Given the description of an element on the screen output the (x, y) to click on. 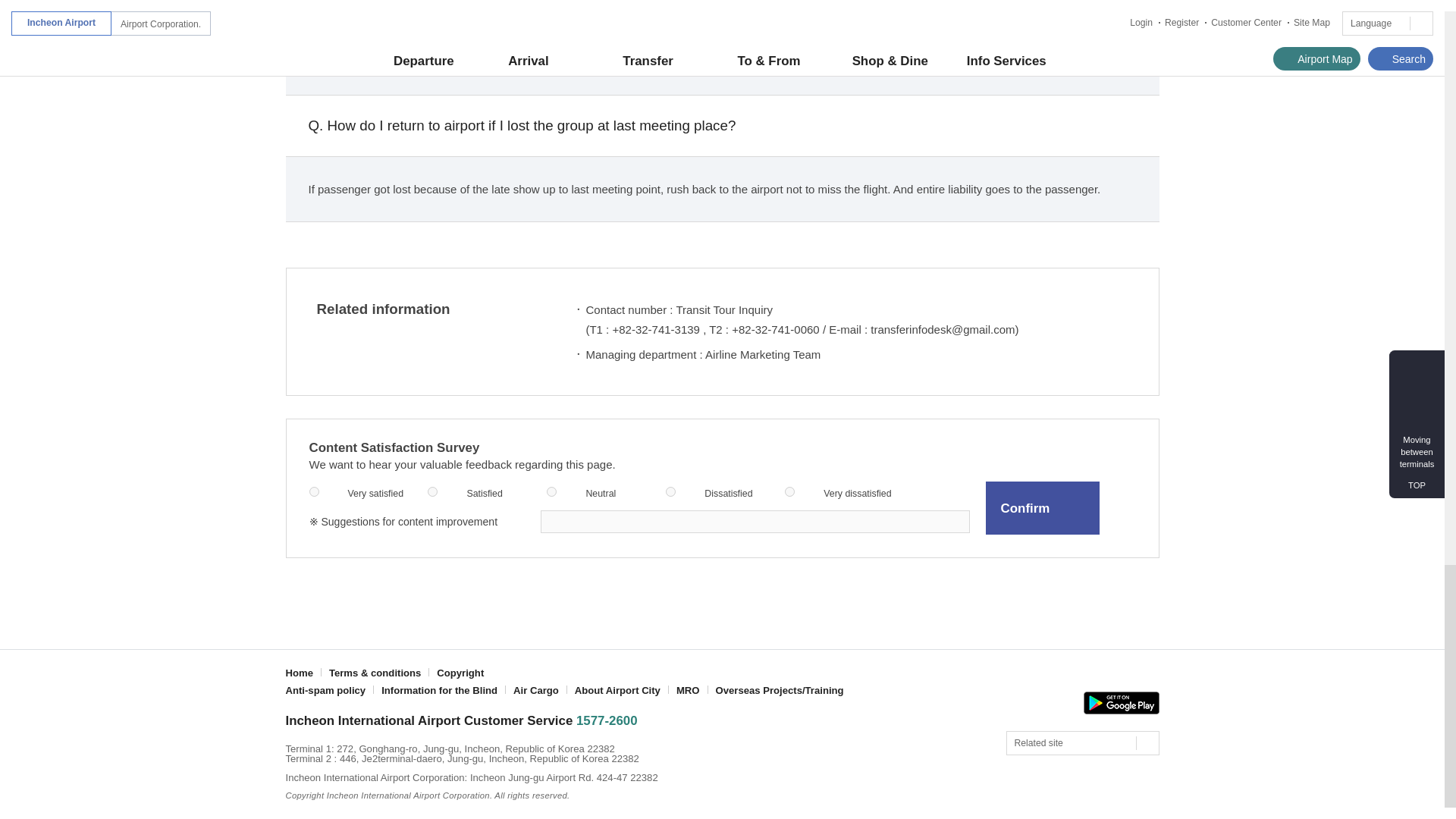
2 (433, 491)
3 (551, 491)
5 (789, 491)
1 (313, 491)
4 (670, 491)
